Given the description of an element on the screen output the (x, y) to click on. 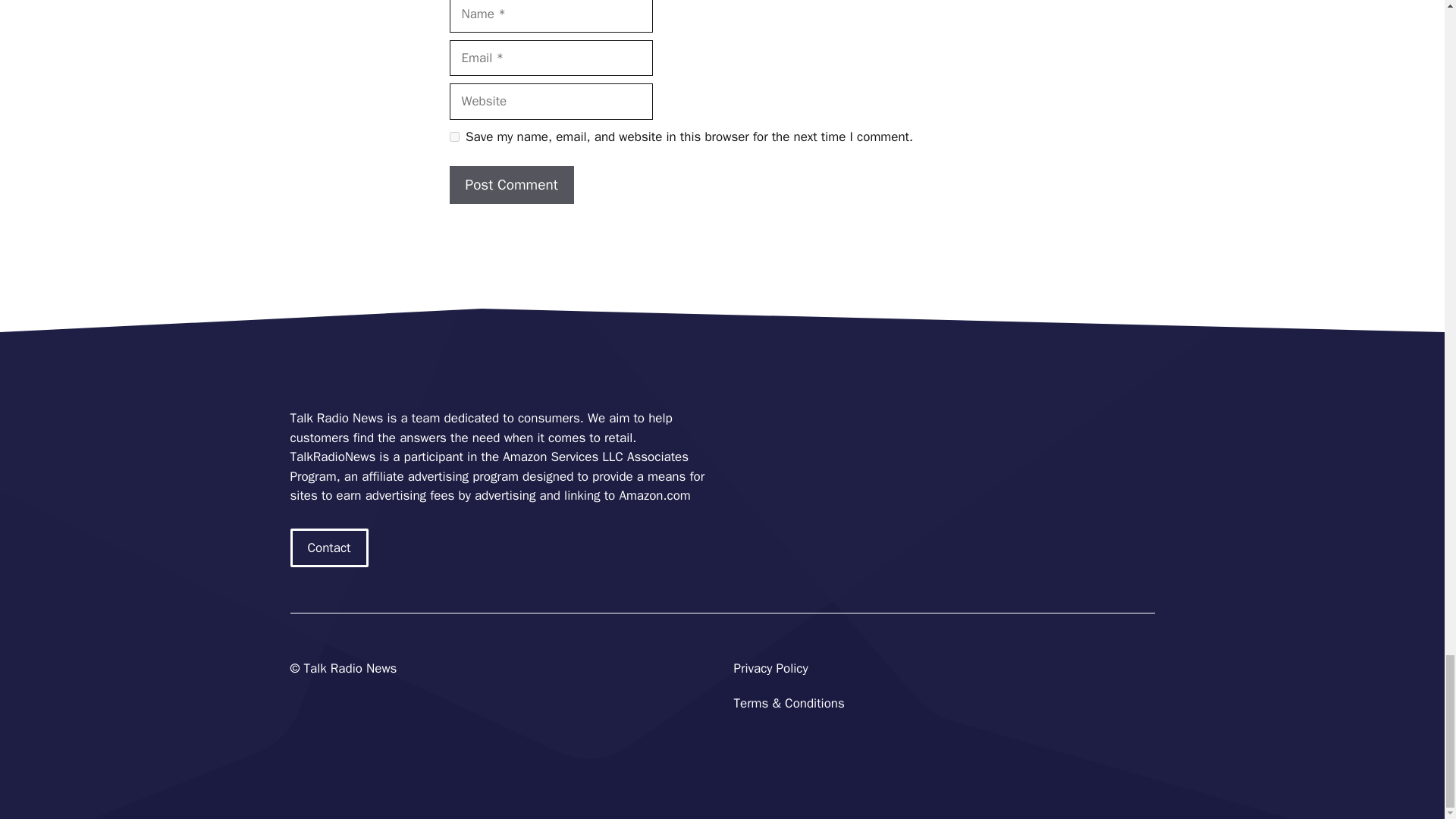
Post Comment (510, 185)
Contact (328, 548)
Privacy Policy (770, 668)
yes (453, 136)
Post Comment (510, 185)
